Given the description of an element on the screen output the (x, y) to click on. 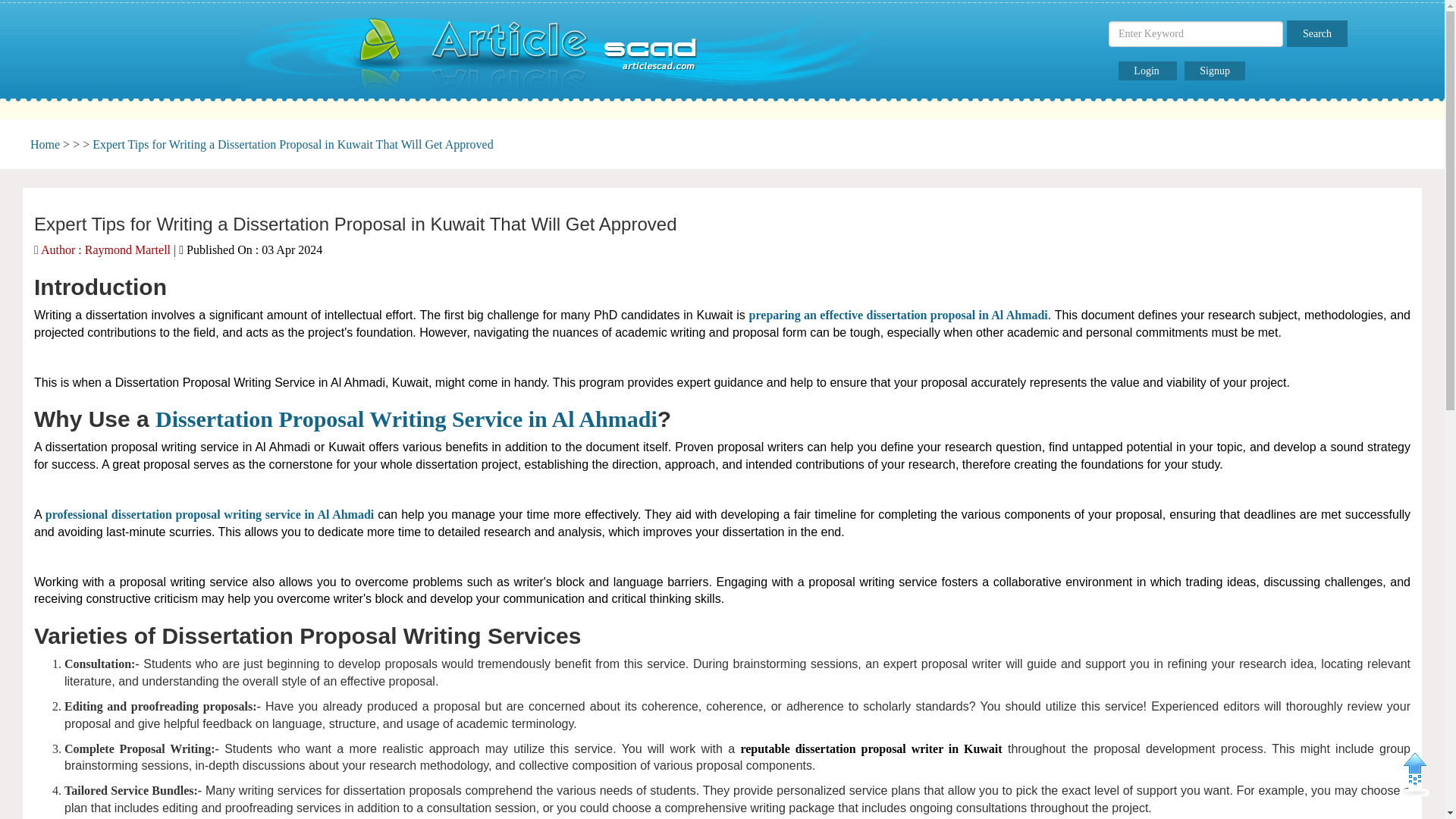
preparing an effective dissertation proposal in Al Ahmadi (898, 314)
Home (44, 144)
Signup (1214, 70)
Search (1317, 33)
reputable dissertation proposal writer in Kuwait (870, 748)
Login (1147, 70)
Search (1317, 33)
Dissertation Proposal Writing Service in Al Ahmadi (406, 418)
